Given the description of an element on the screen output the (x, y) to click on. 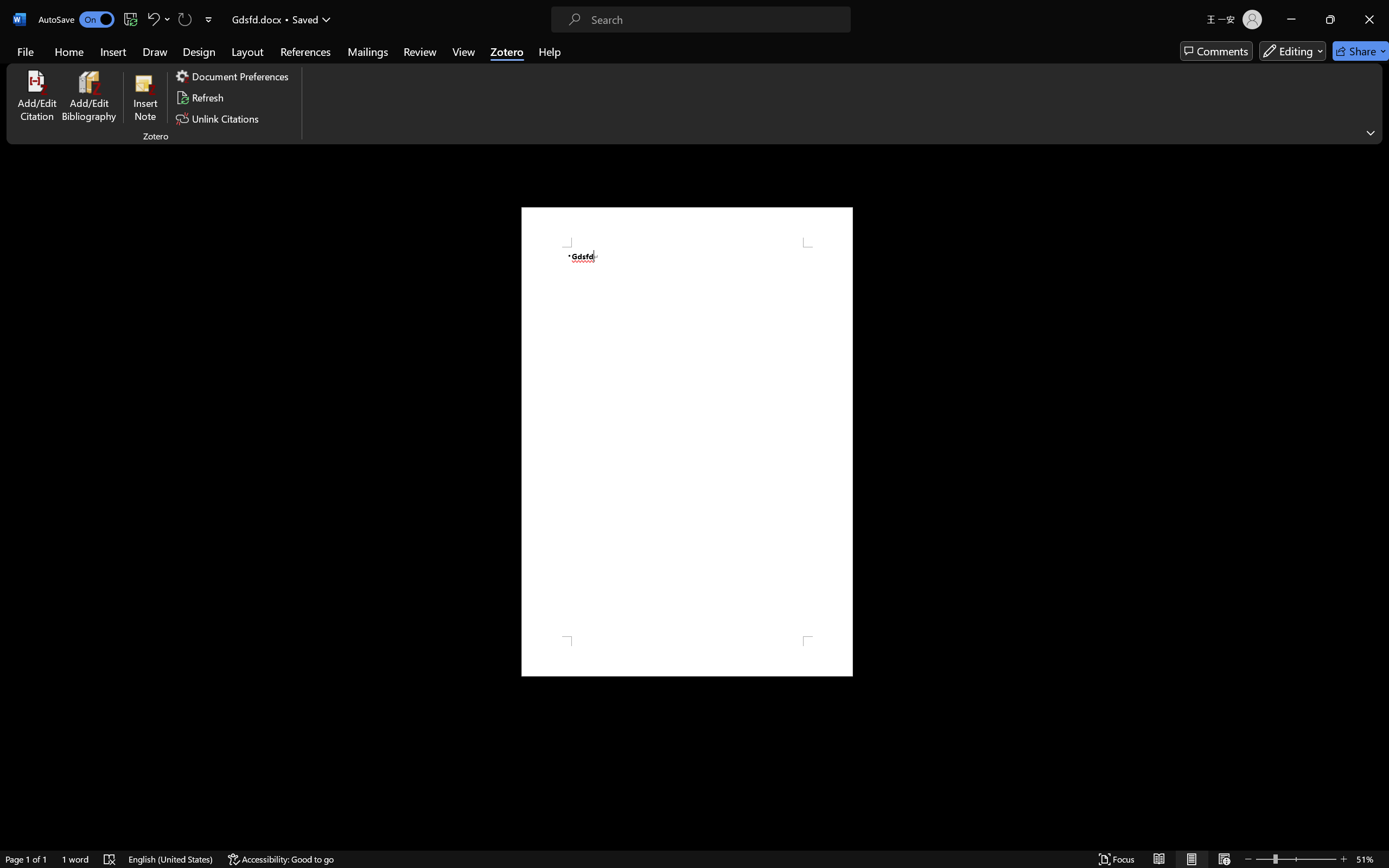
Page 1 content (686, 441)
